Given the description of an element on the screen output the (x, y) to click on. 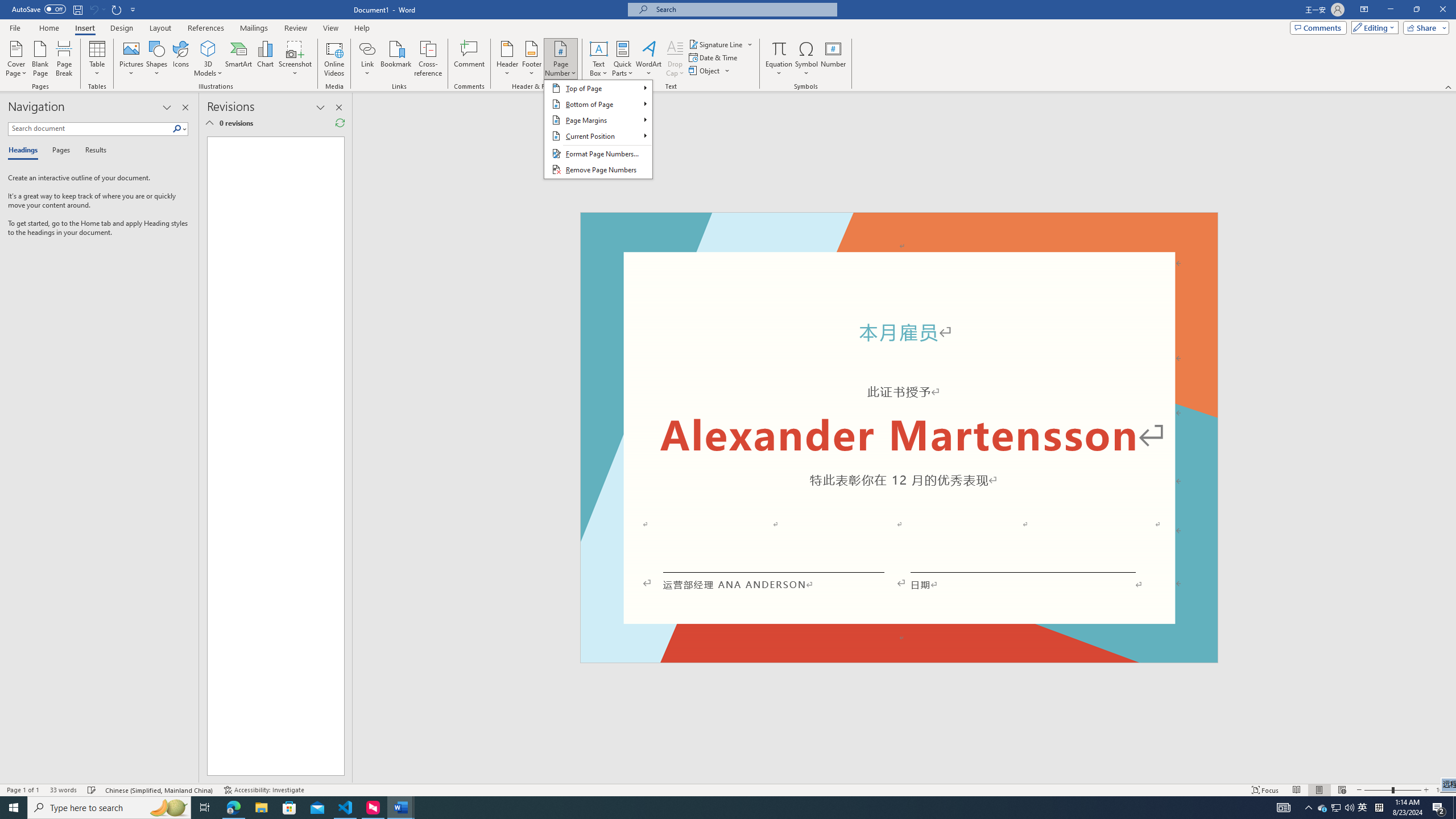
Signature Line (721, 44)
Can't Undo (92, 9)
Icons (180, 58)
Shapes (156, 58)
Refresh Reviewing Pane (339, 122)
Cover Page (16, 58)
